Given the description of an element on the screen output the (x, y) to click on. 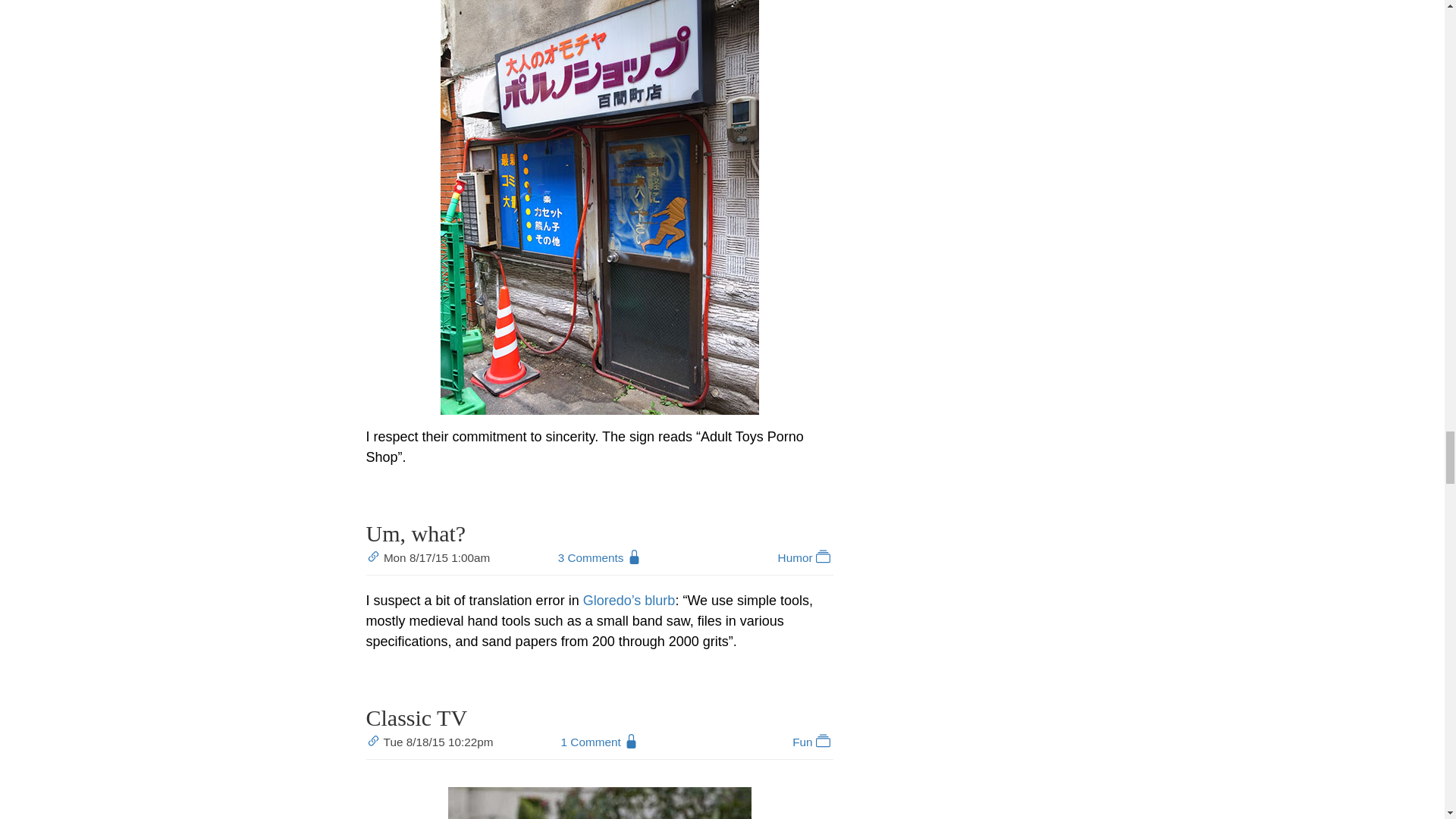
martian-cat.jpg (599, 803)
Adult Toys Porno Shop (599, 207)
